Given the description of an element on the screen output the (x, y) to click on. 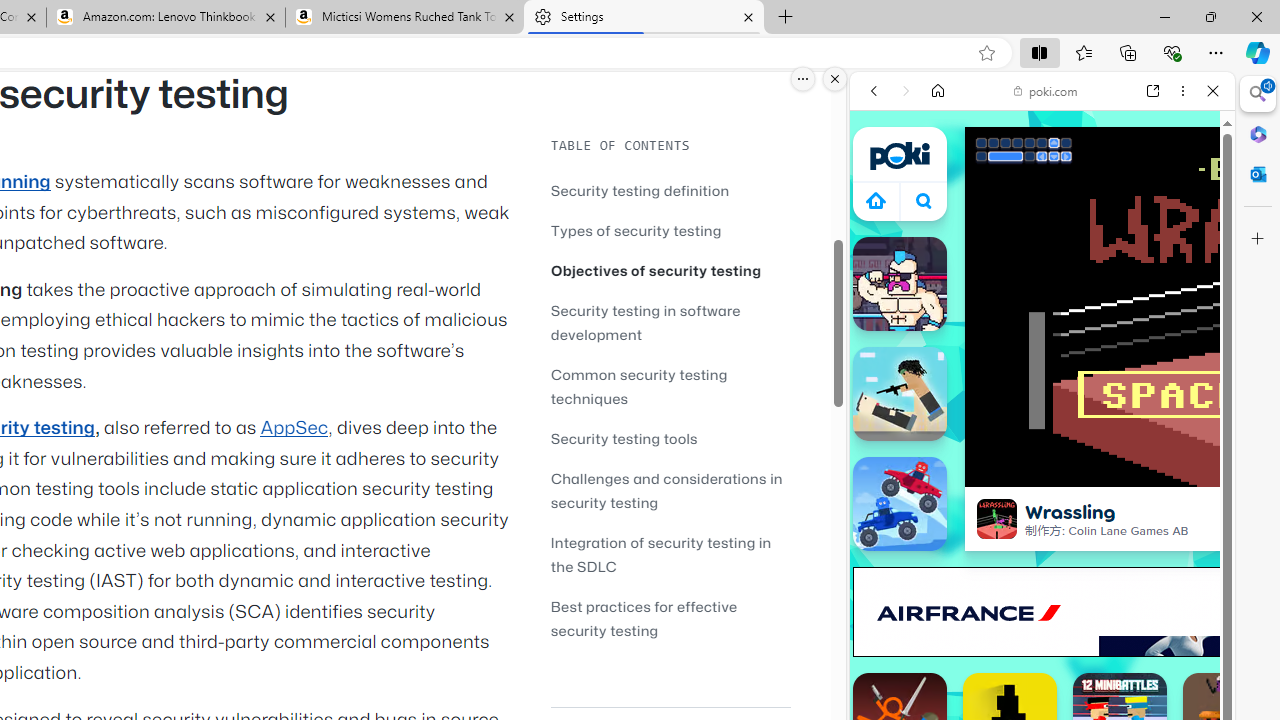
Wrassling (996, 518)
Security testing tools (670, 438)
Integration of security testing in the SDLC (670, 553)
Rooftop Snipers (899, 393)
Sports Games (1042, 665)
Two Player Games (1042, 567)
poki.com (1046, 90)
Sports Games (1042, 666)
Types of security testing (635, 230)
